Given the description of an element on the screen output the (x, y) to click on. 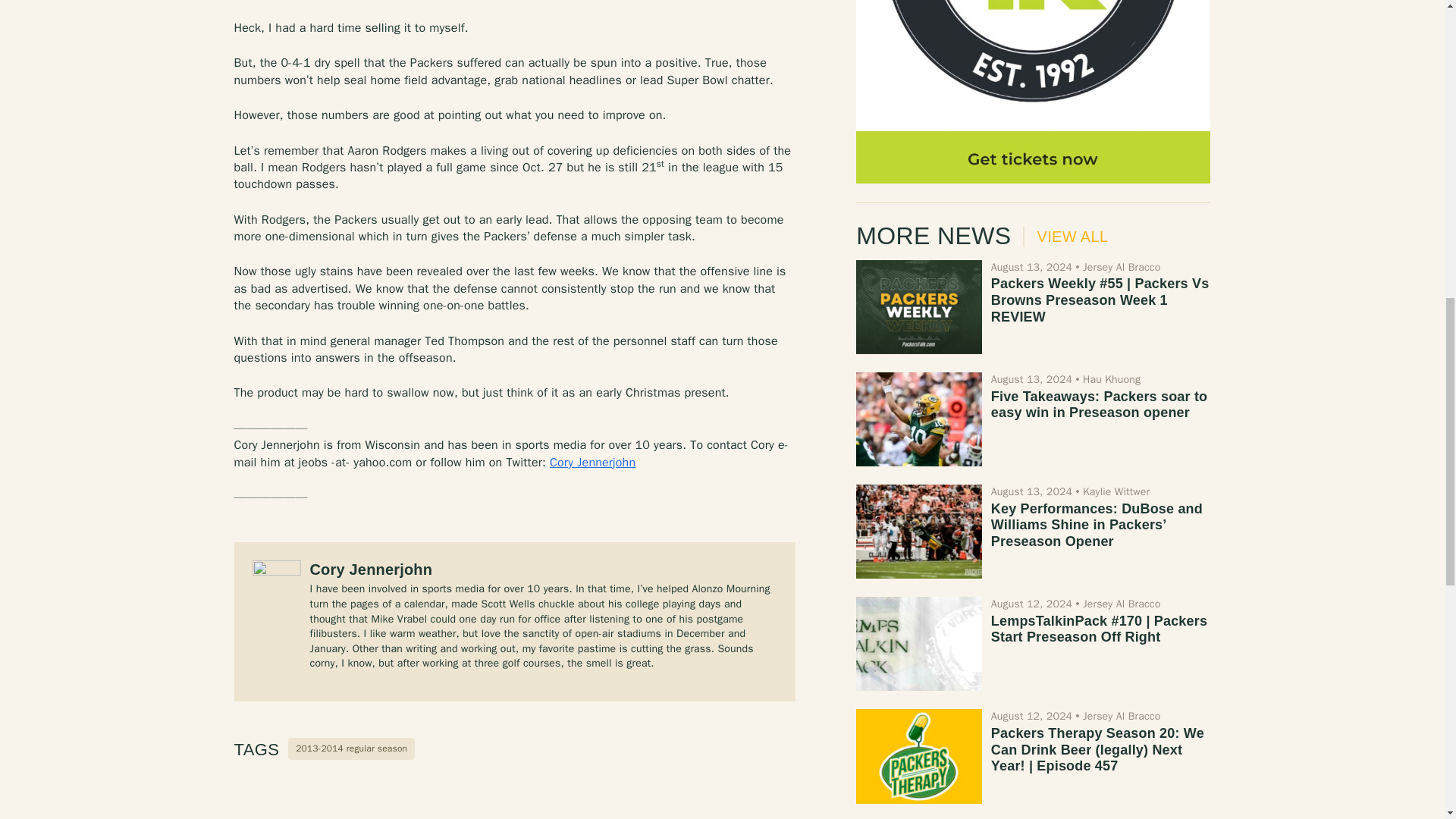
Five Takeaways: Packers soar to easy win in Preseason opener (1099, 404)
Jersey Al Bracco (1121, 267)
Hau Khuong (1111, 379)
Cory Jennerjohn (592, 462)
Five Takeaways: Packers soar to easy win in Preseason opener (918, 419)
Kaylie Wittwer (1116, 491)
VIEW ALL (1065, 236)
Five Takeaways: Packers soar to easy win in Preseason opener (1099, 404)
2013-2014 regular season (351, 748)
Jersey Al Bracco (1121, 603)
